Given the description of an element on the screen output the (x, y) to click on. 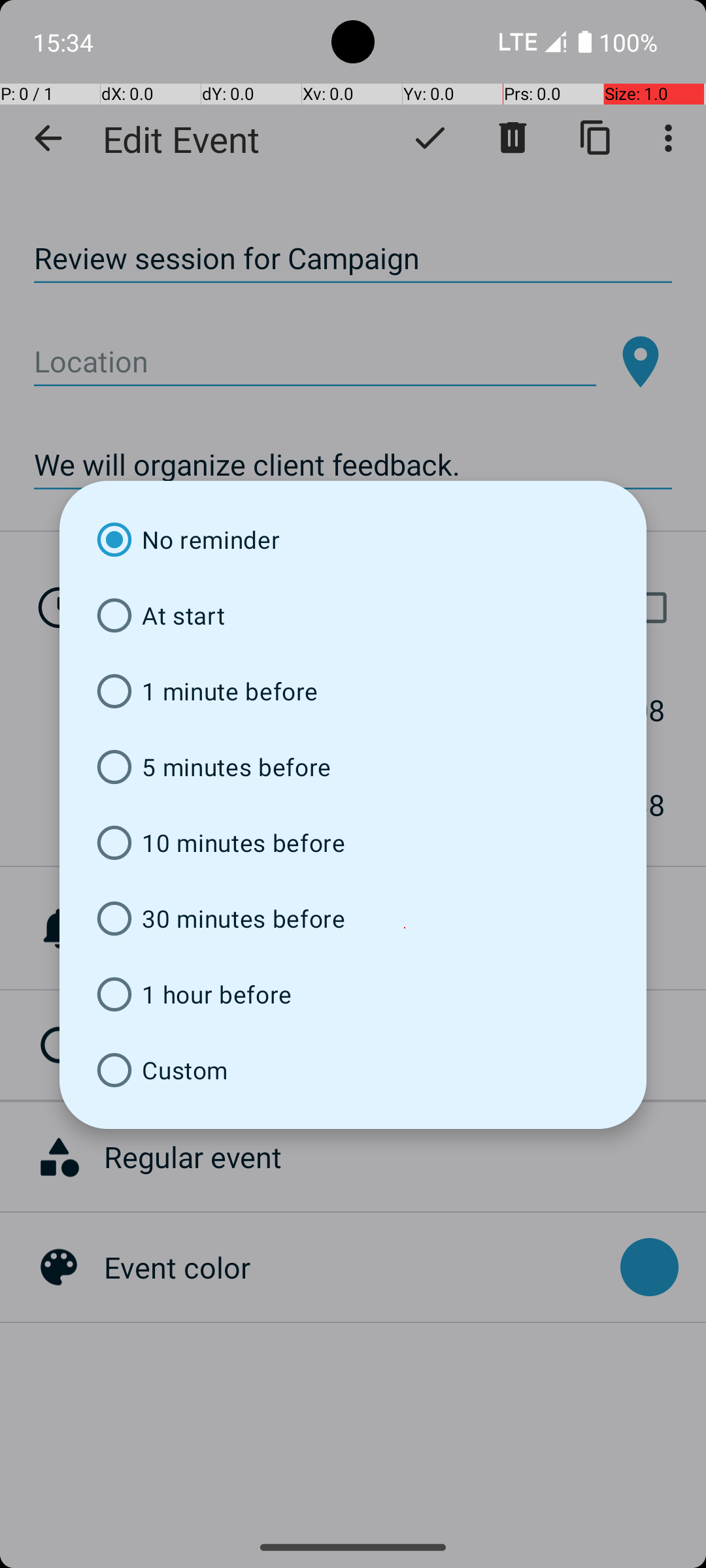
At start Element type: android.widget.RadioButton (352, 615)
1 minute before Element type: android.widget.RadioButton (352, 691)
5 minutes before Element type: android.widget.RadioButton (352, 766)
30 minutes before Element type: android.widget.RadioButton (352, 918)
1 hour before Element type: android.widget.RadioButton (352, 994)
